Given the description of an element on the screen output the (x, y) to click on. 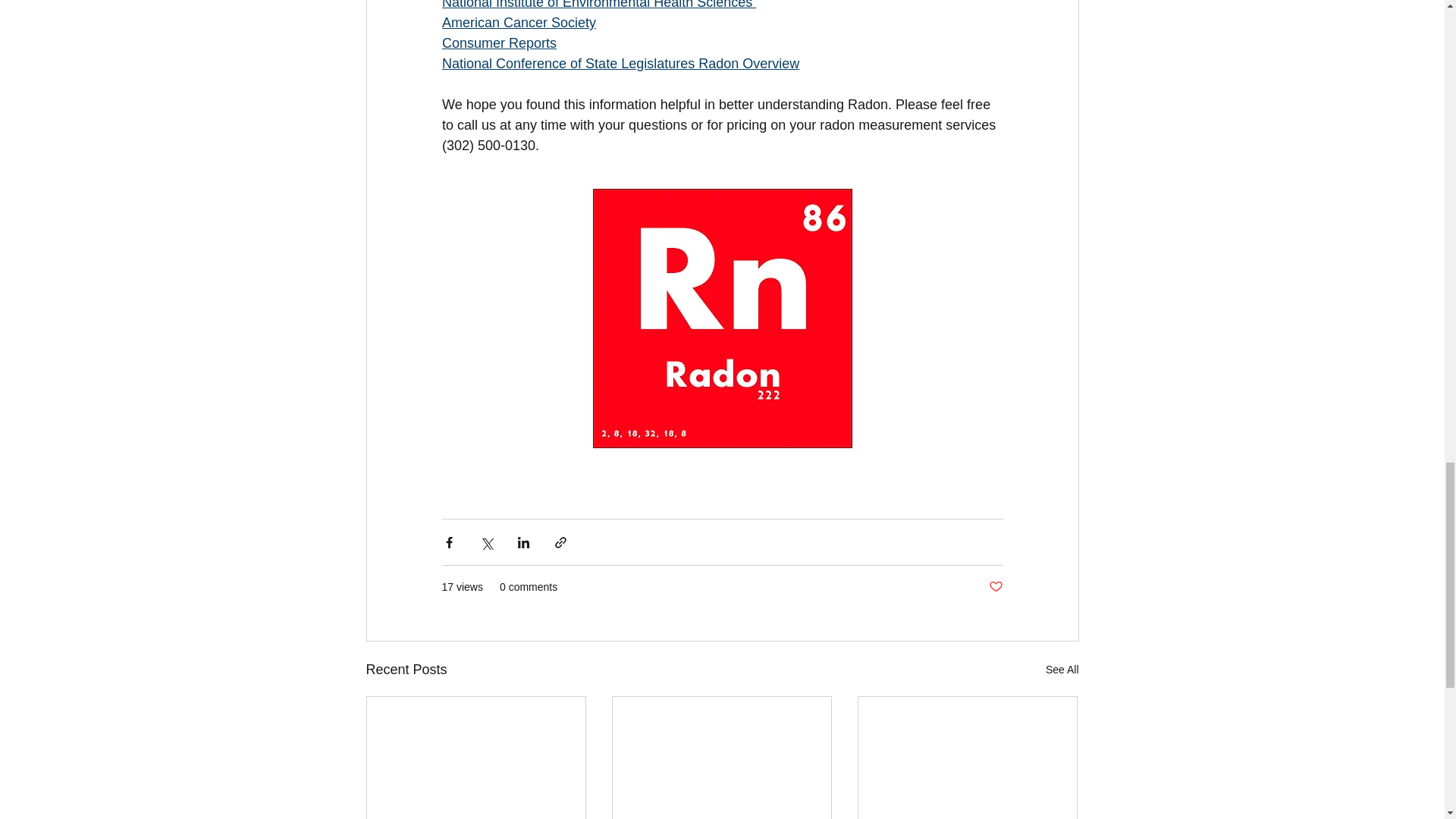
Consumer Reports (498, 43)
Post not marked as liked (995, 587)
See All (1061, 669)
American Cancer Society (518, 22)
National Institute of Environmental Health Sciences  (598, 4)
National Conference of State Legislatures Radon Overview (619, 63)
